Given the description of an element on the screen output the (x, y) to click on. 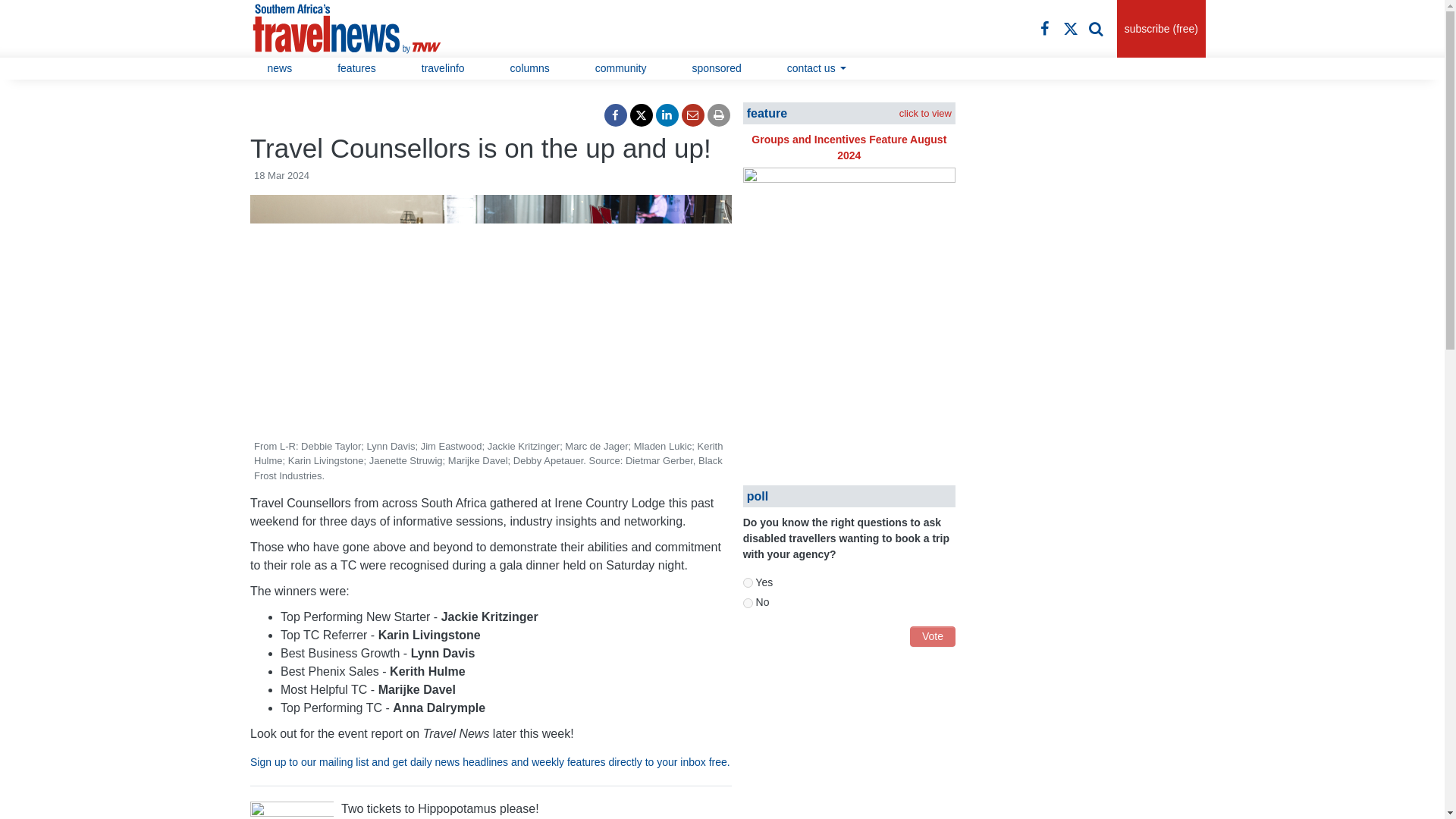
Search (1096, 28)
contact us (816, 68)
travelinfo (442, 68)
columns (529, 68)
Facebook (1045, 28)
community (620, 68)
Search (1096, 28)
sponsored (715, 68)
Vote (932, 636)
Facebook (615, 115)
